Given the description of an element on the screen output the (x, y) to click on. 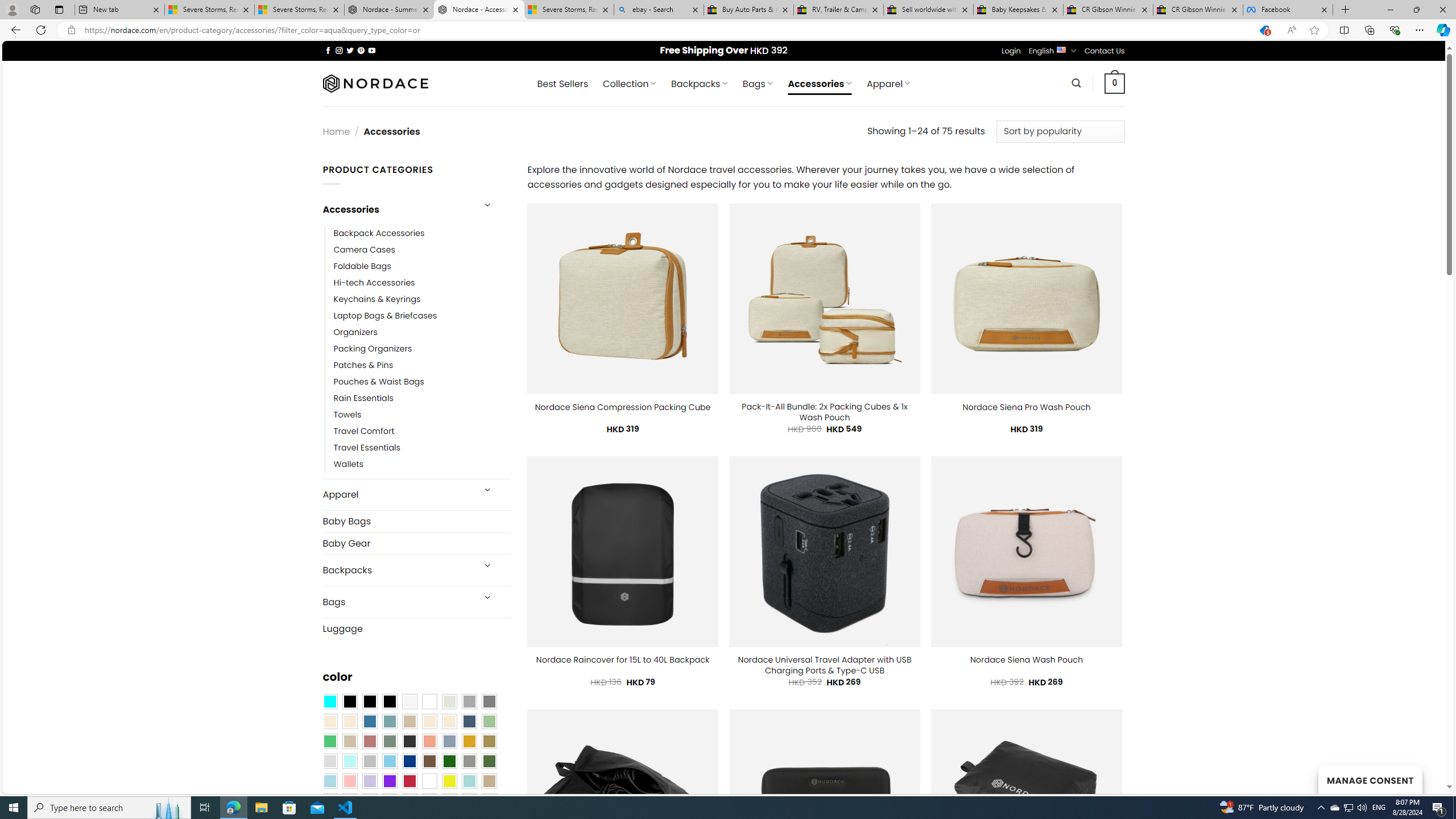
Bags (397, 602)
Luggage (416, 627)
Rain Essentials (363, 398)
MANAGE CONSENT (1369, 779)
Camera Cases (363, 248)
Pack-It-All Bundle: 2x Packing Cubes & 1x Wash Pouch (824, 412)
Dark Gray (468, 701)
Keychains & Keyrings (422, 298)
Nordace Siena Pro Wash Pouch (1026, 406)
Black (369, 701)
Pearly White (408, 701)
Cream (449, 721)
